Given the description of an element on the screen output the (x, y) to click on. 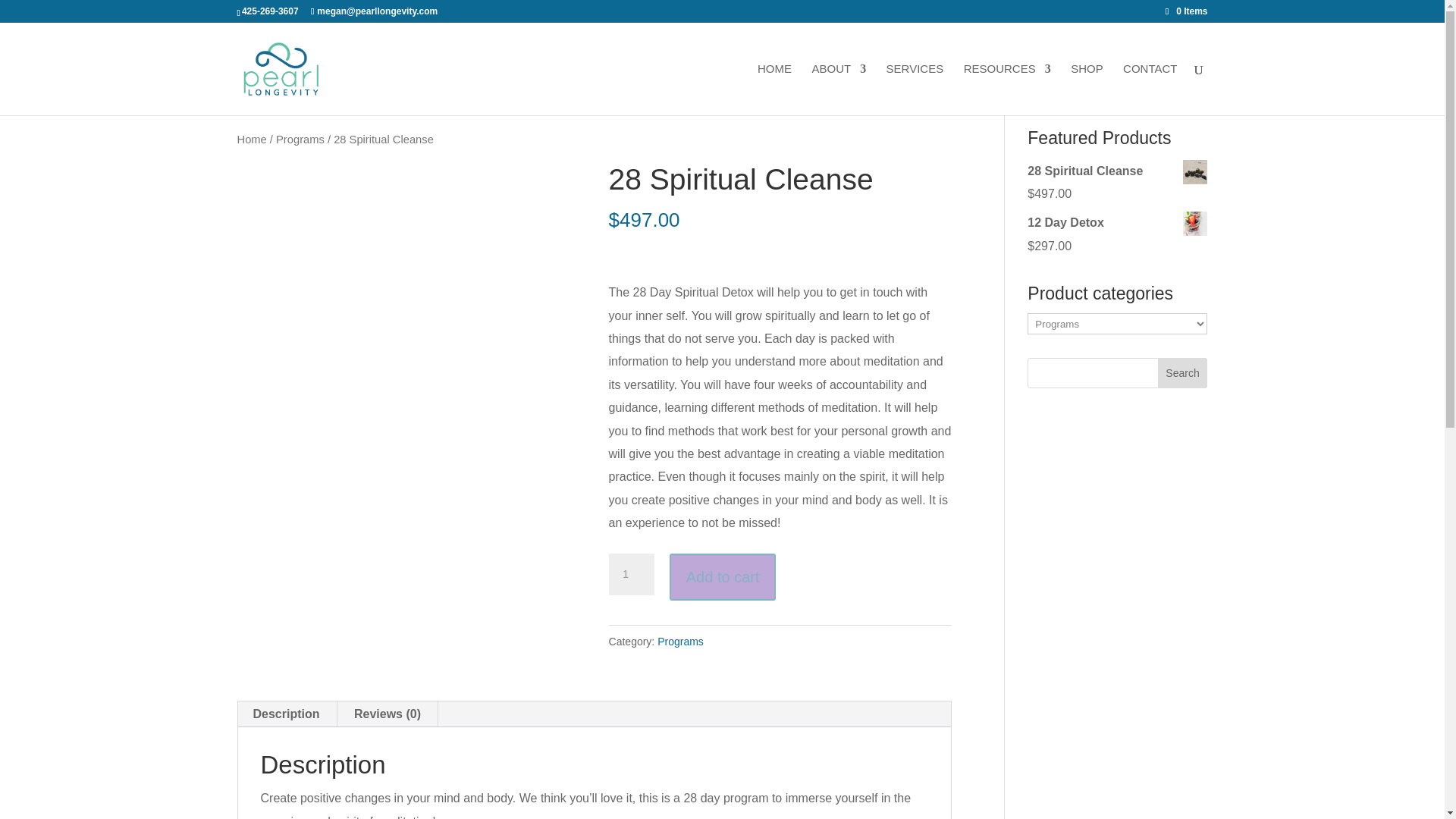
1 (630, 574)
Description (285, 714)
Search (1182, 372)
Home (250, 139)
ABOUT (838, 89)
12 Day Detox (1117, 222)
0 Items (1187, 10)
CONTACT (1149, 89)
SERVICES (914, 89)
RESOURCES (1007, 89)
